Given the description of an element on the screen output the (x, y) to click on. 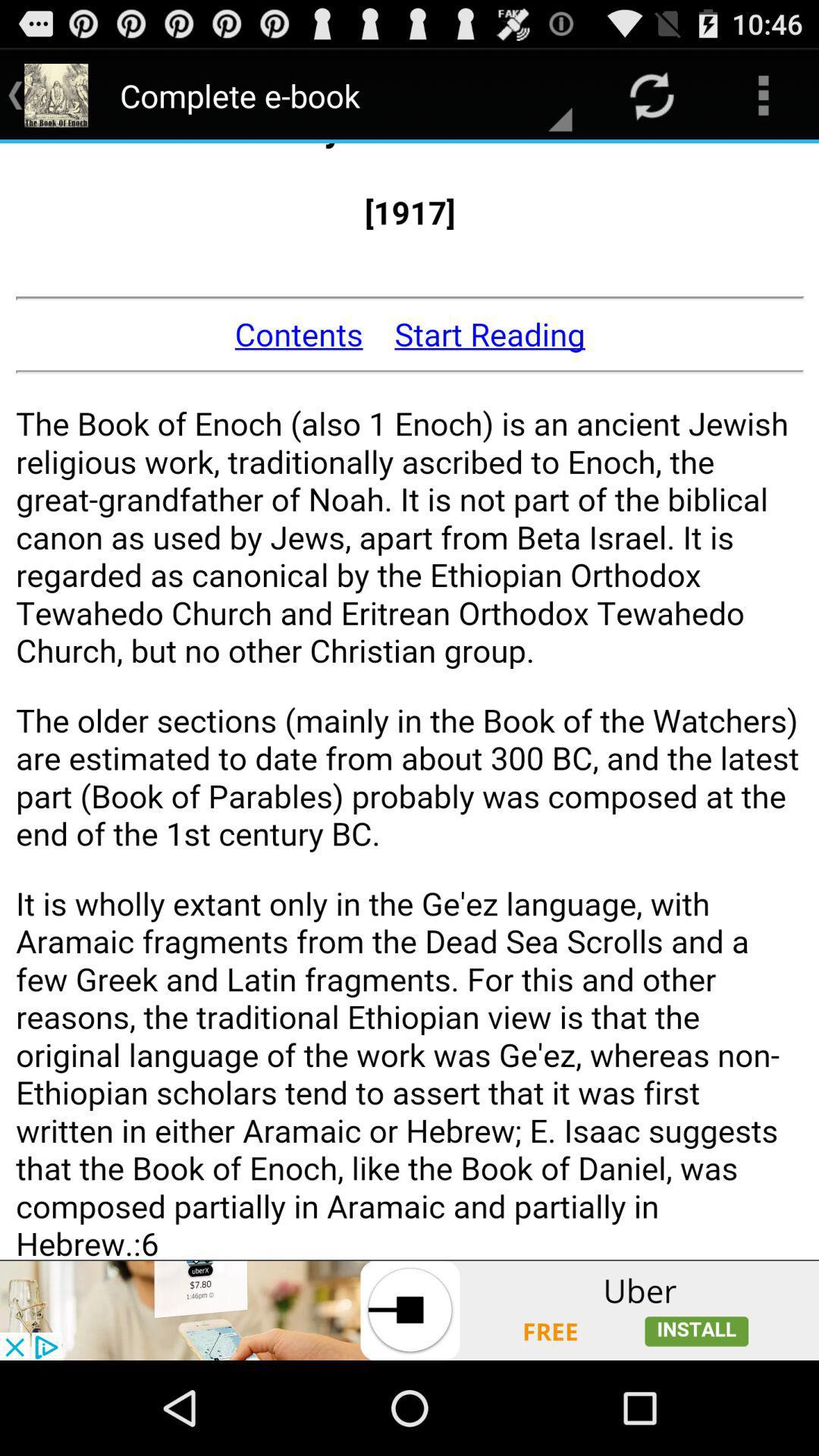
advertisement (409, 1310)
